Given the description of an element on the screen output the (x, y) to click on. 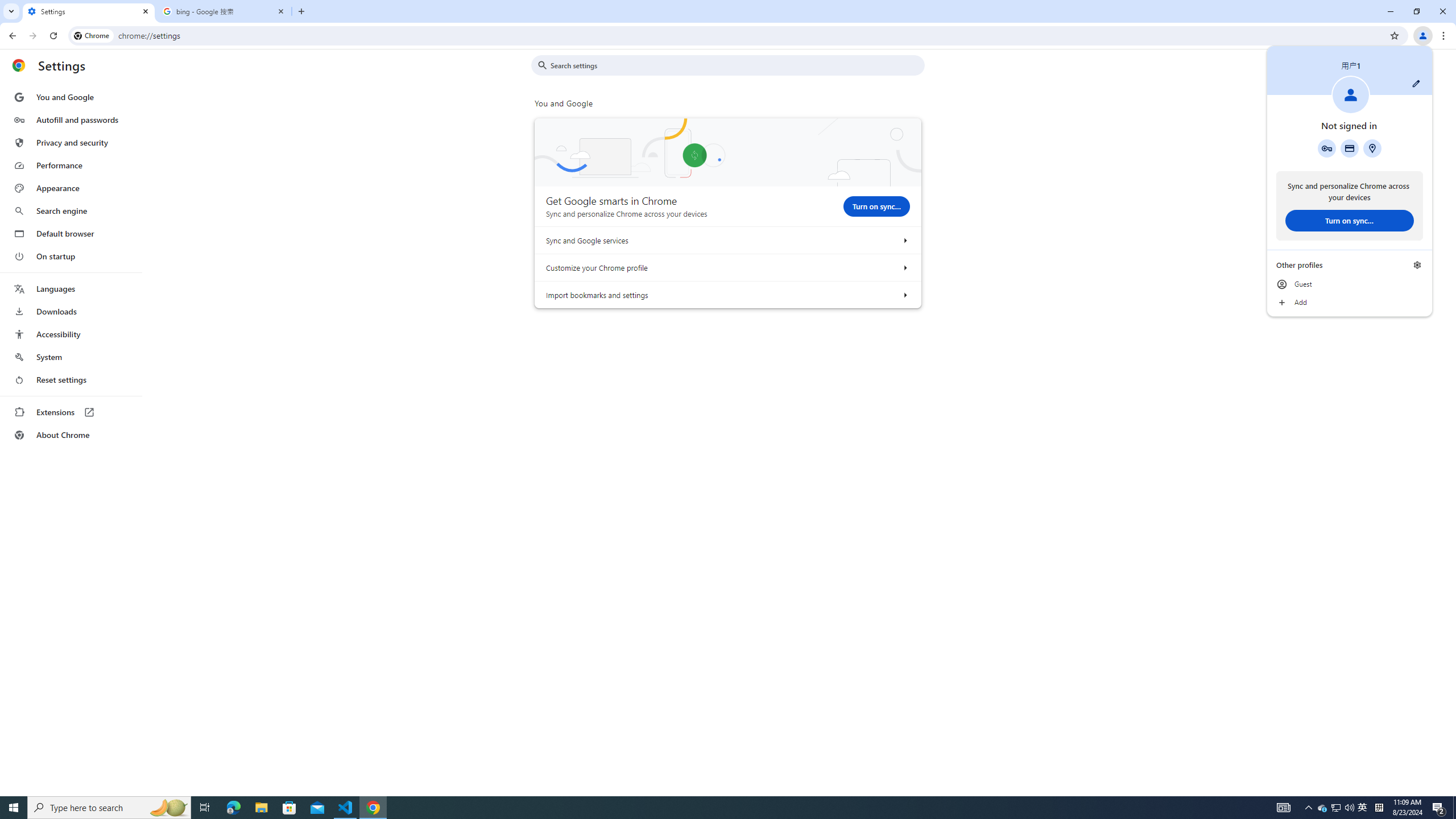
Guest (1362, 807)
Action Center, 2 new notifications (1349, 284)
Add (1439, 807)
Accessibility (1349, 302)
You and Google (70, 333)
AutomationID: 4105 (70, 96)
Customize your Chrome profile (1283, 807)
Task View (904, 266)
Search engine (204, 807)
Languages (70, 210)
Downloads (70, 288)
Google Chrome - 1 running window (70, 311)
Type here to search (373, 807)
